Given the description of an element on the screen output the (x, y) to click on. 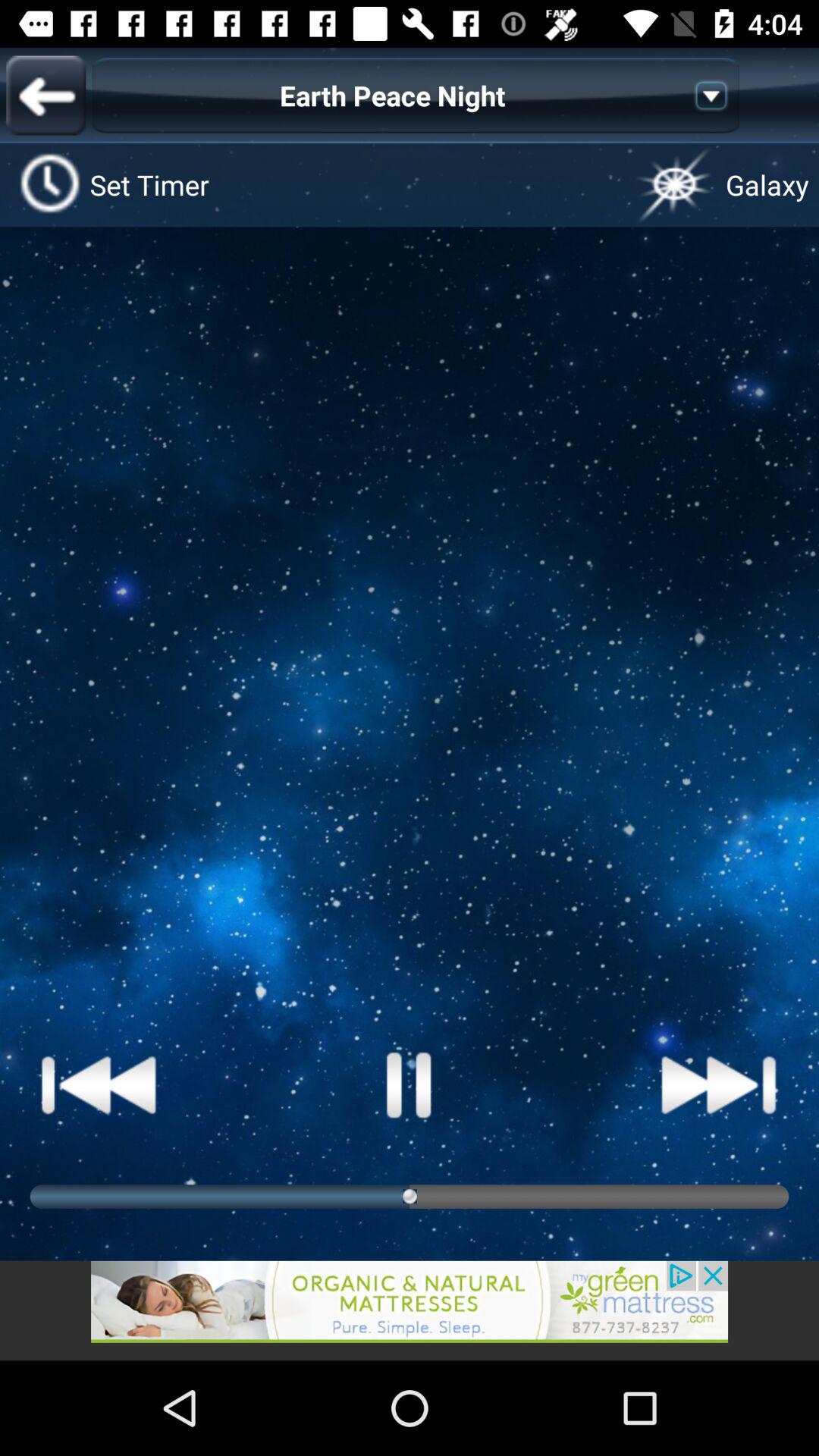
go back (409, 1310)
